Given the description of an element on the screen output the (x, y) to click on. 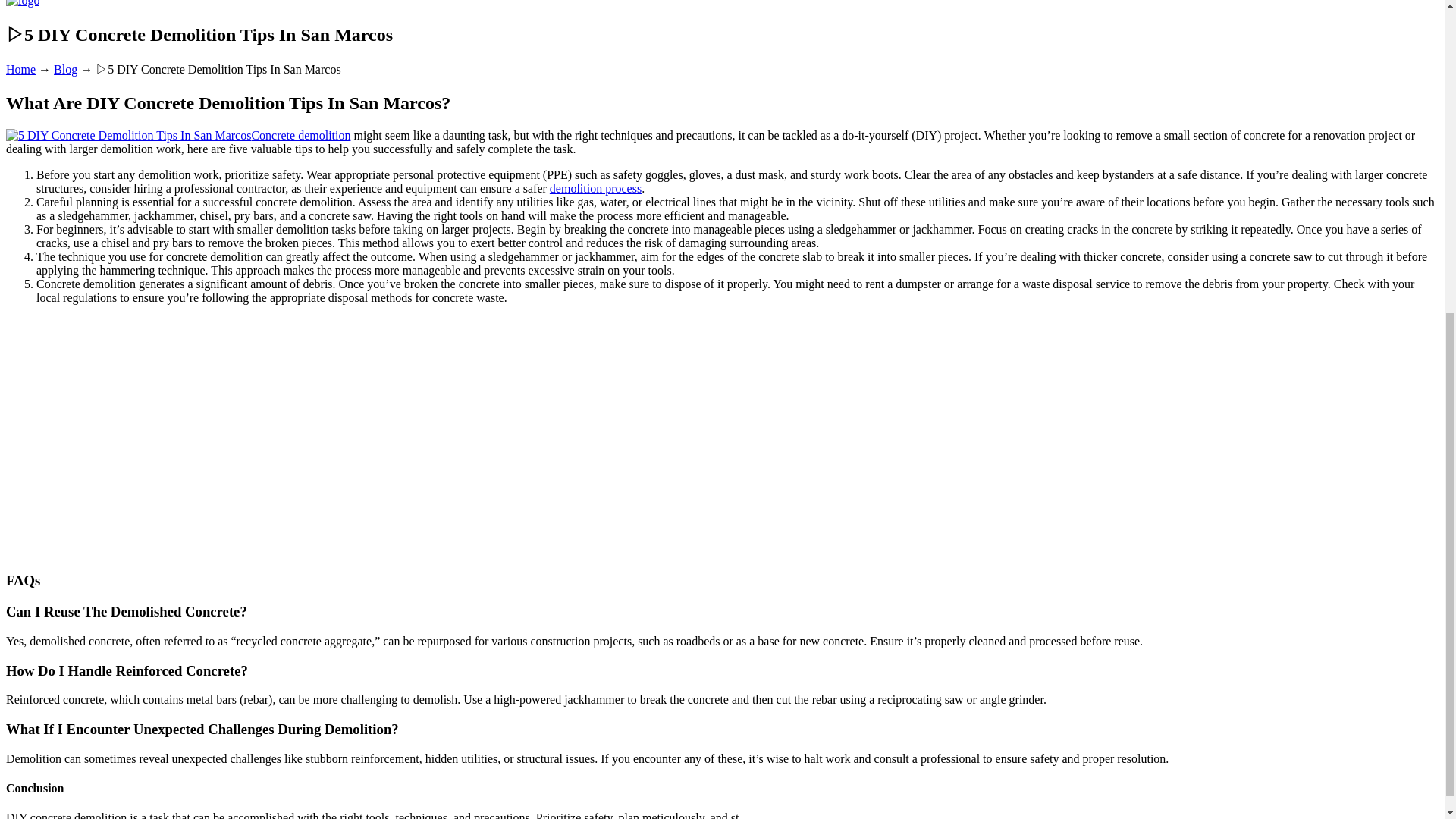
Blog (65, 69)
Home (19, 69)
Concrete demolition (177, 134)
YouTube video player (217, 436)
demolition process (596, 187)
